Given the description of an element on the screen output the (x, y) to click on. 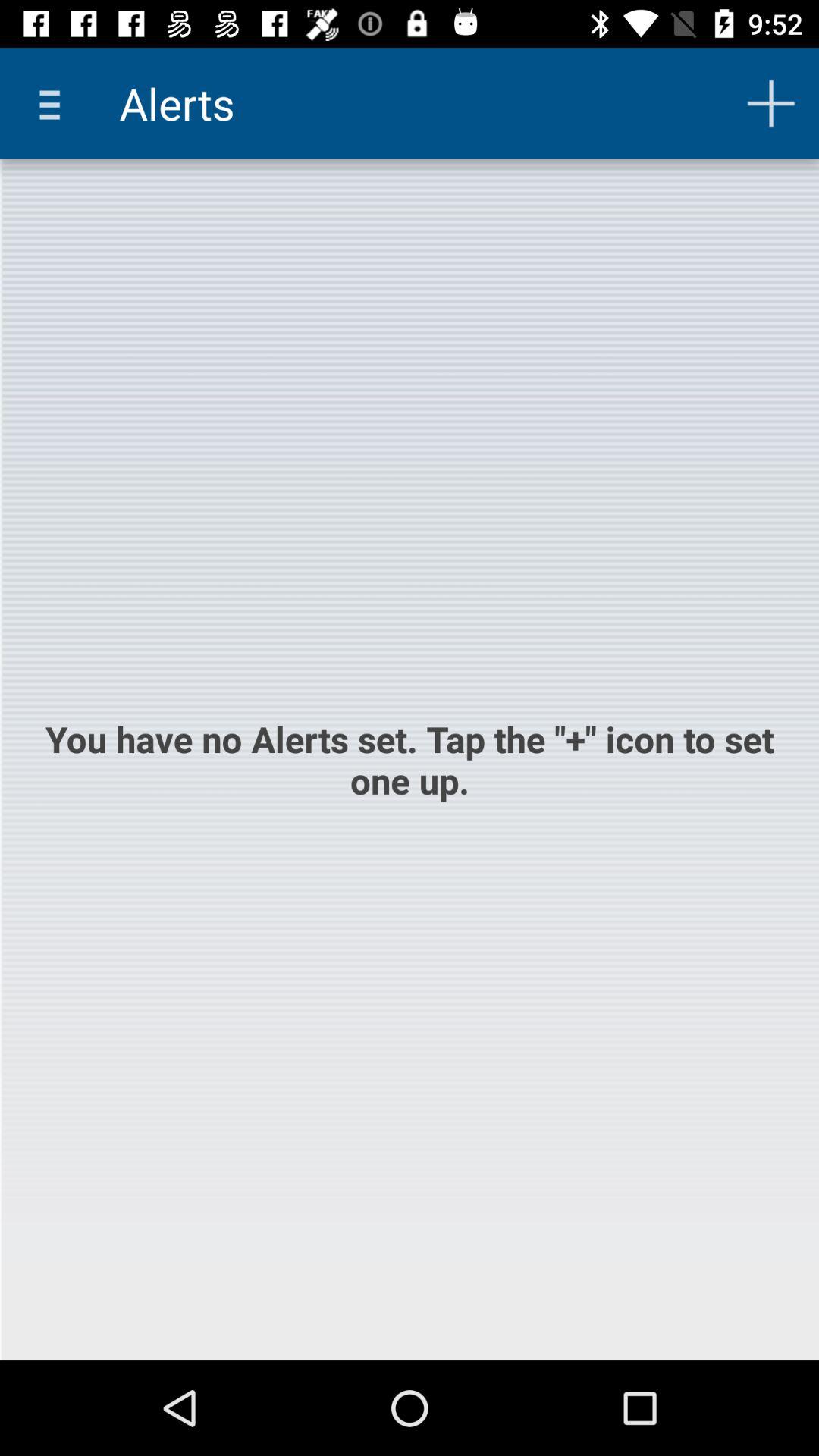
turn off the icon at the top right corner (771, 103)
